Given the description of an element on the screen output the (x, y) to click on. 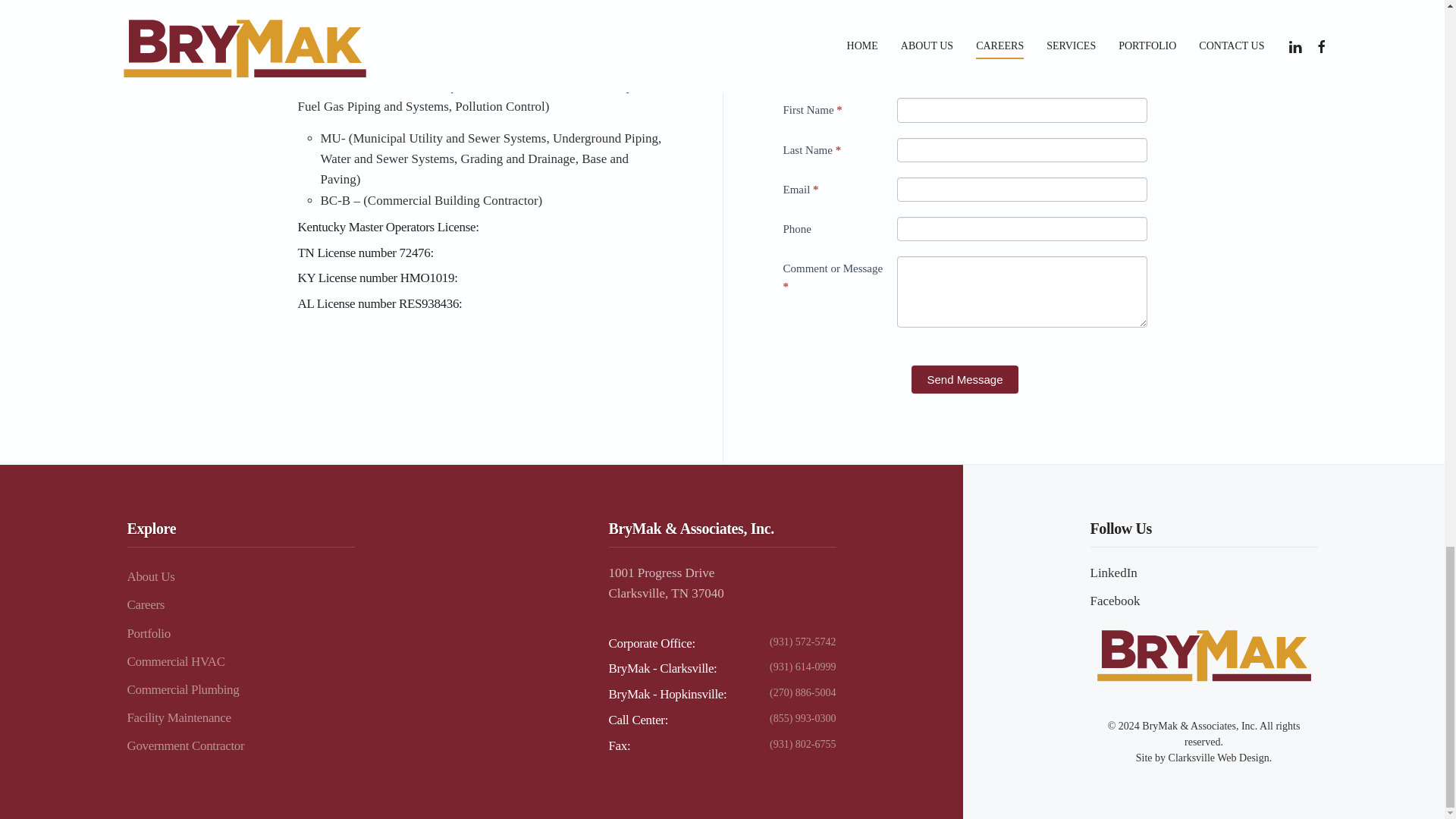
About Us (241, 576)
Send Message (964, 379)
Careers (241, 604)
Portfolio (241, 633)
